Given the description of an element on the screen output the (x, y) to click on. 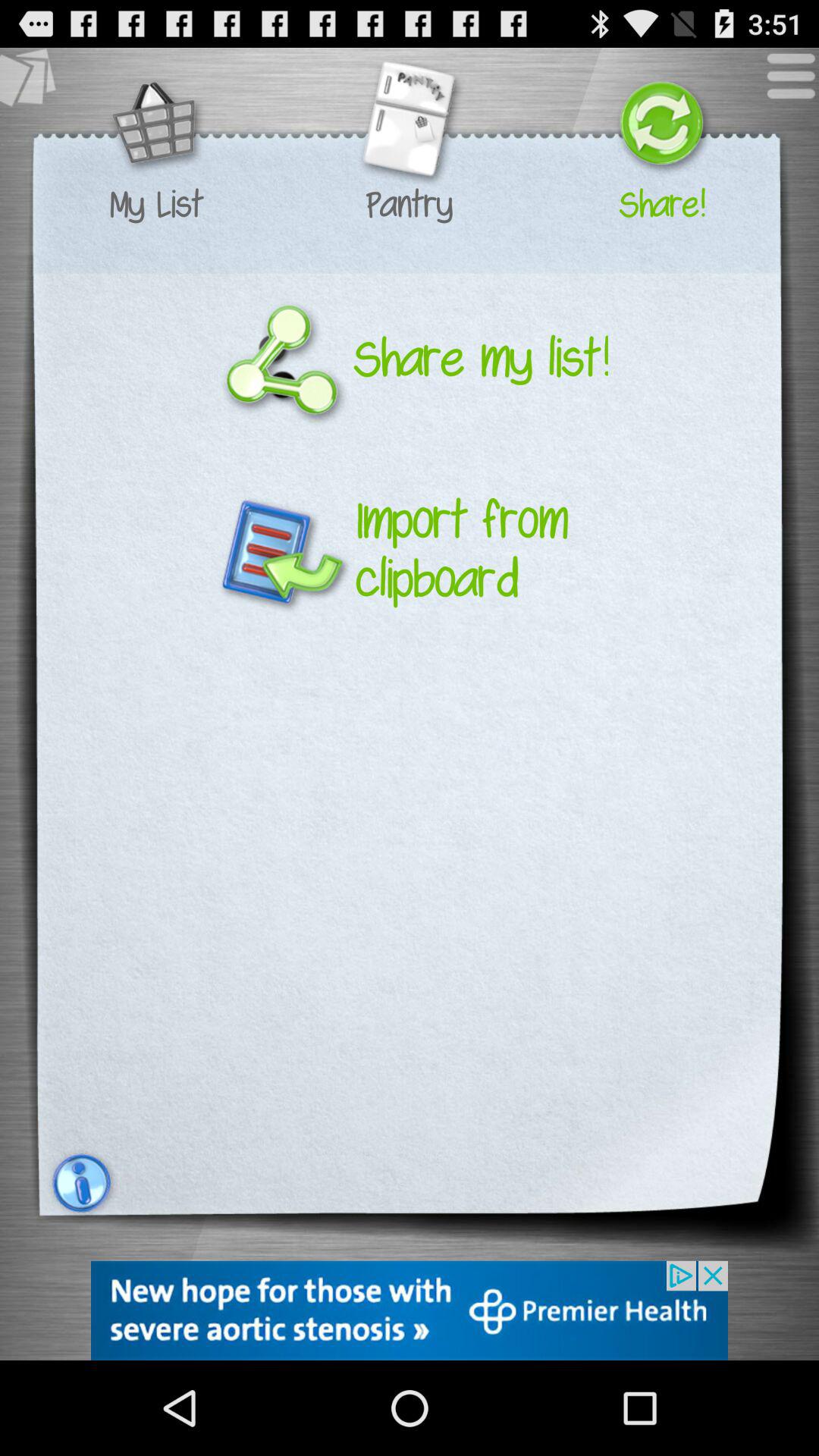
link to advertisement (409, 1310)
